Given the description of an element on the screen output the (x, y) to click on. 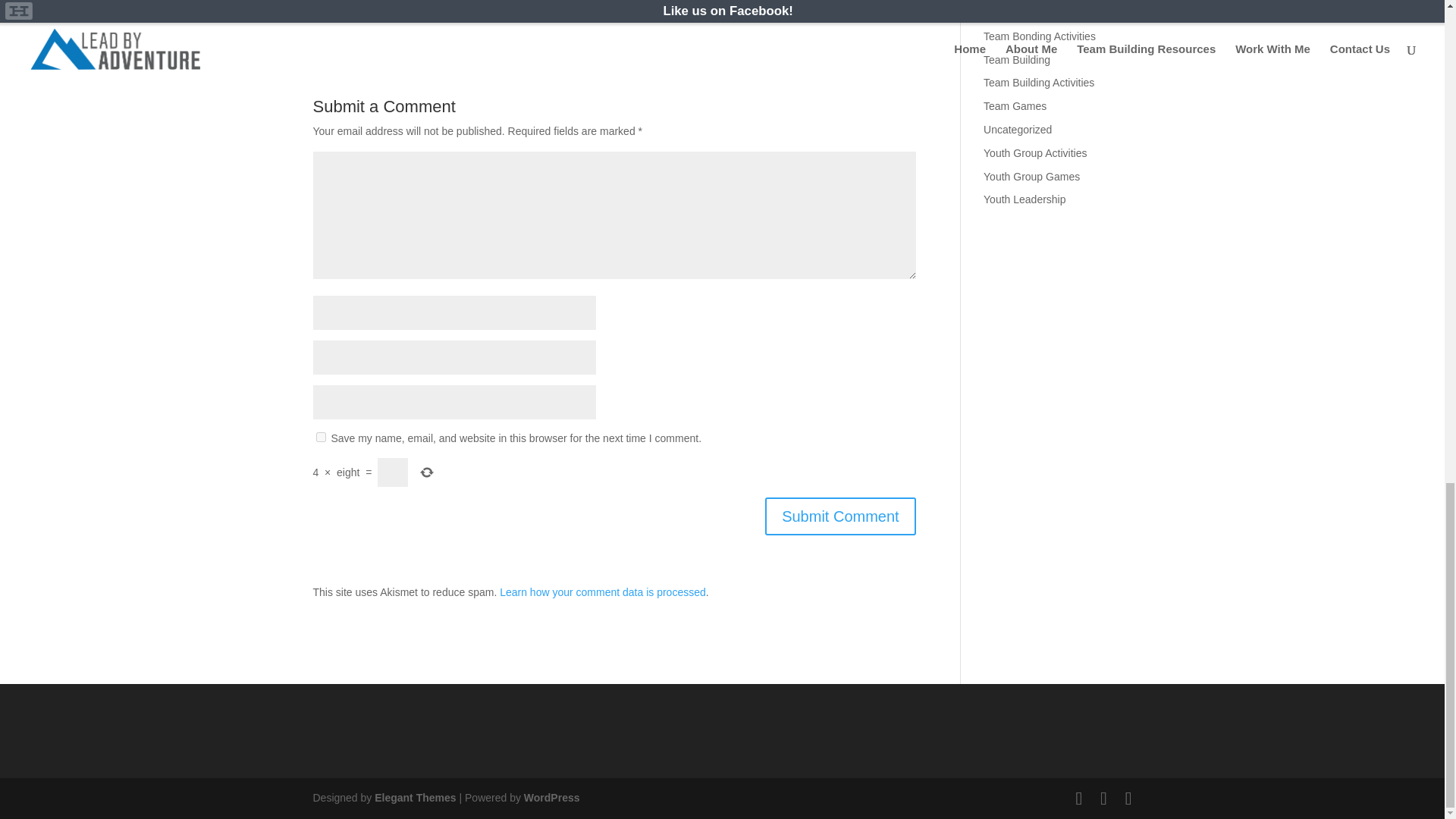
Submit Comment (840, 516)
Learn how your comment data is processed (602, 592)
Premium WordPress Themes (414, 797)
yes (319, 437)
Submit Comment (840, 516)
